Given the description of an element on the screen output the (x, y) to click on. 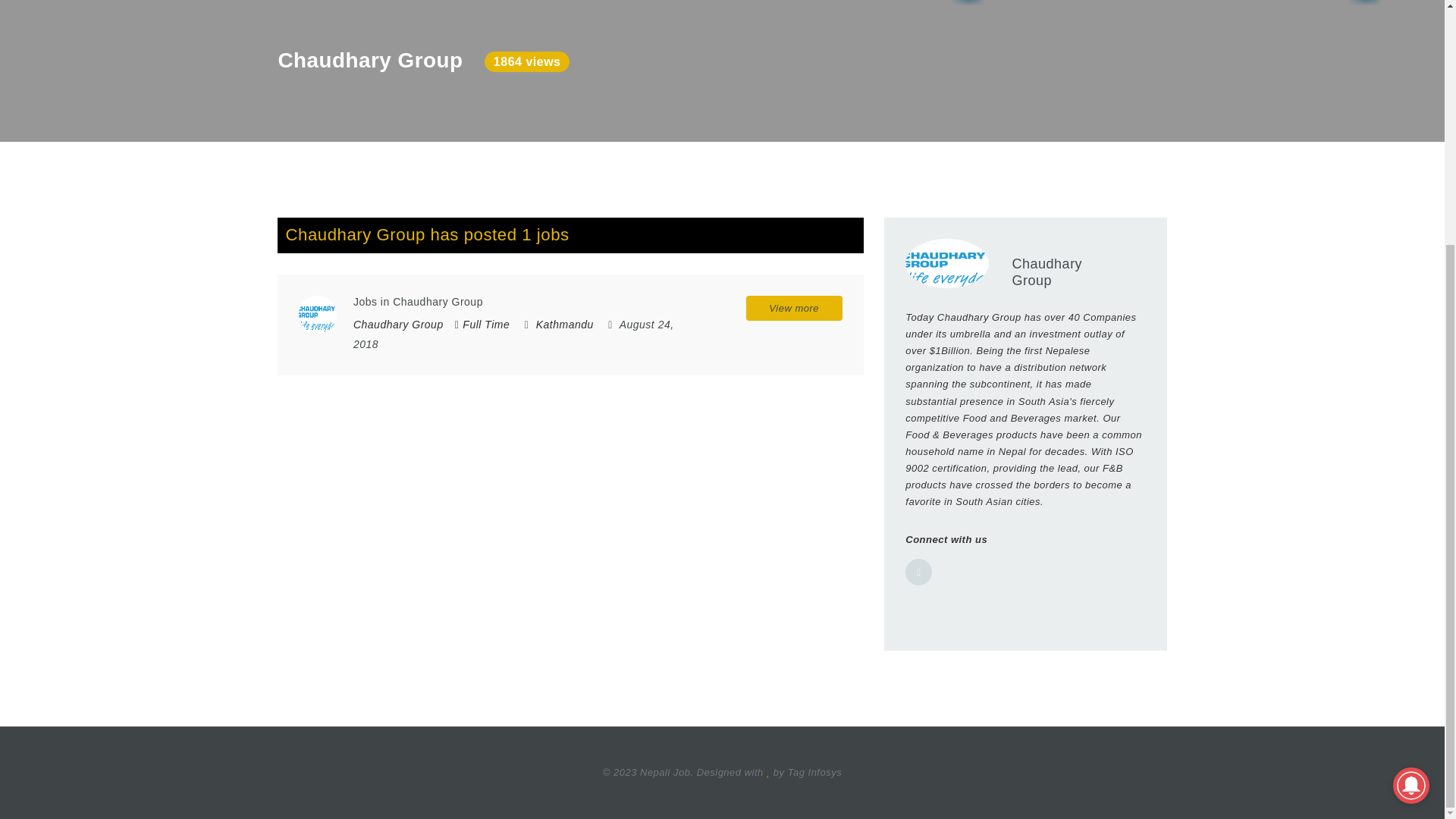
Connect with us on Website (918, 571)
Chaudhary Group (398, 324)
Full Time (482, 324)
Permanent link to: "Jobs in Chaudhary Group" (418, 301)
Kathmandu (564, 324)
Jobs in Chaudhary Group (418, 301)
View more (794, 308)
Jobs in Chaudhary Group (317, 313)
